Given the description of an element on the screen output the (x, y) to click on. 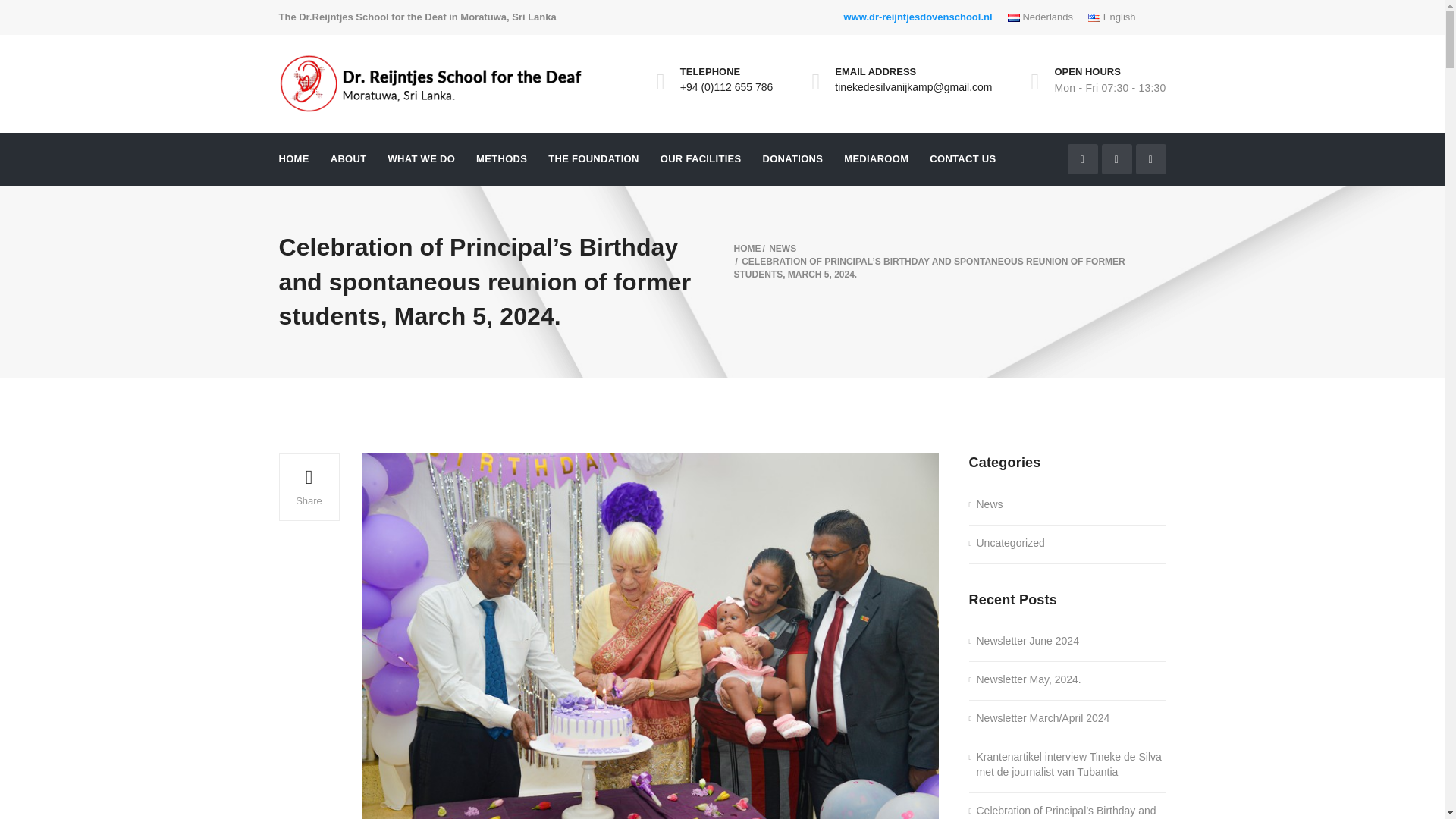
THE FOUNDATION (593, 158)
NEWS (782, 248)
DONATIONS (793, 158)
HOME (747, 248)
Nederlands (1040, 16)
WHAT WE DO (420, 158)
METHODS (501, 158)
MEDIAROOM (876, 158)
CONTACT US (962, 158)
www.dr-reijntjesdovenschool.nl (918, 16)
English (1111, 16)
OUR FACILITIES (701, 158)
